Given the description of an element on the screen output the (x, y) to click on. 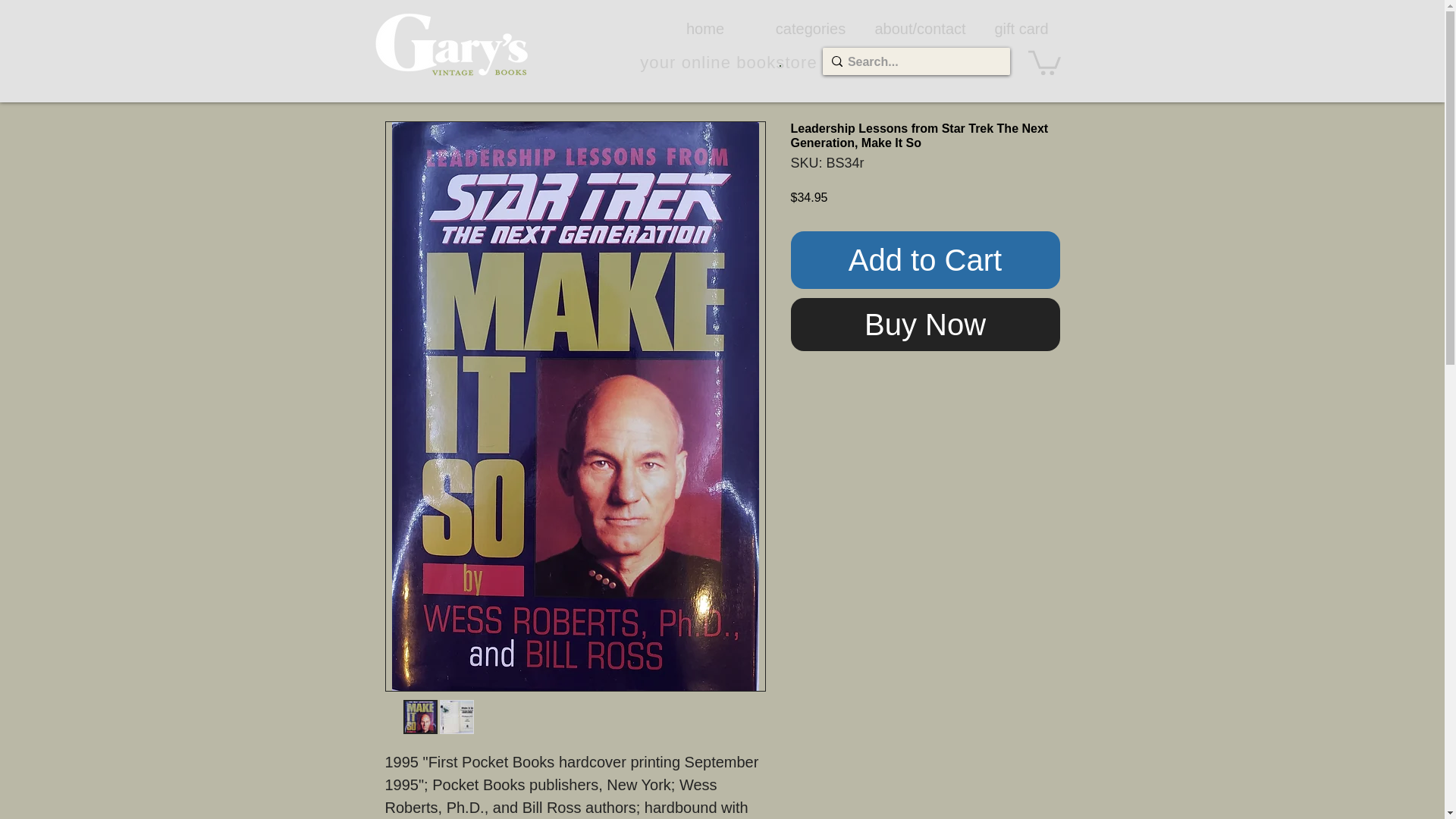
Add to Cart (924, 259)
home (704, 28)
gift card (1021, 28)
Buy Now (924, 324)
your online bookstore (728, 62)
categories (810, 28)
